Given the description of an element on the screen output the (x, y) to click on. 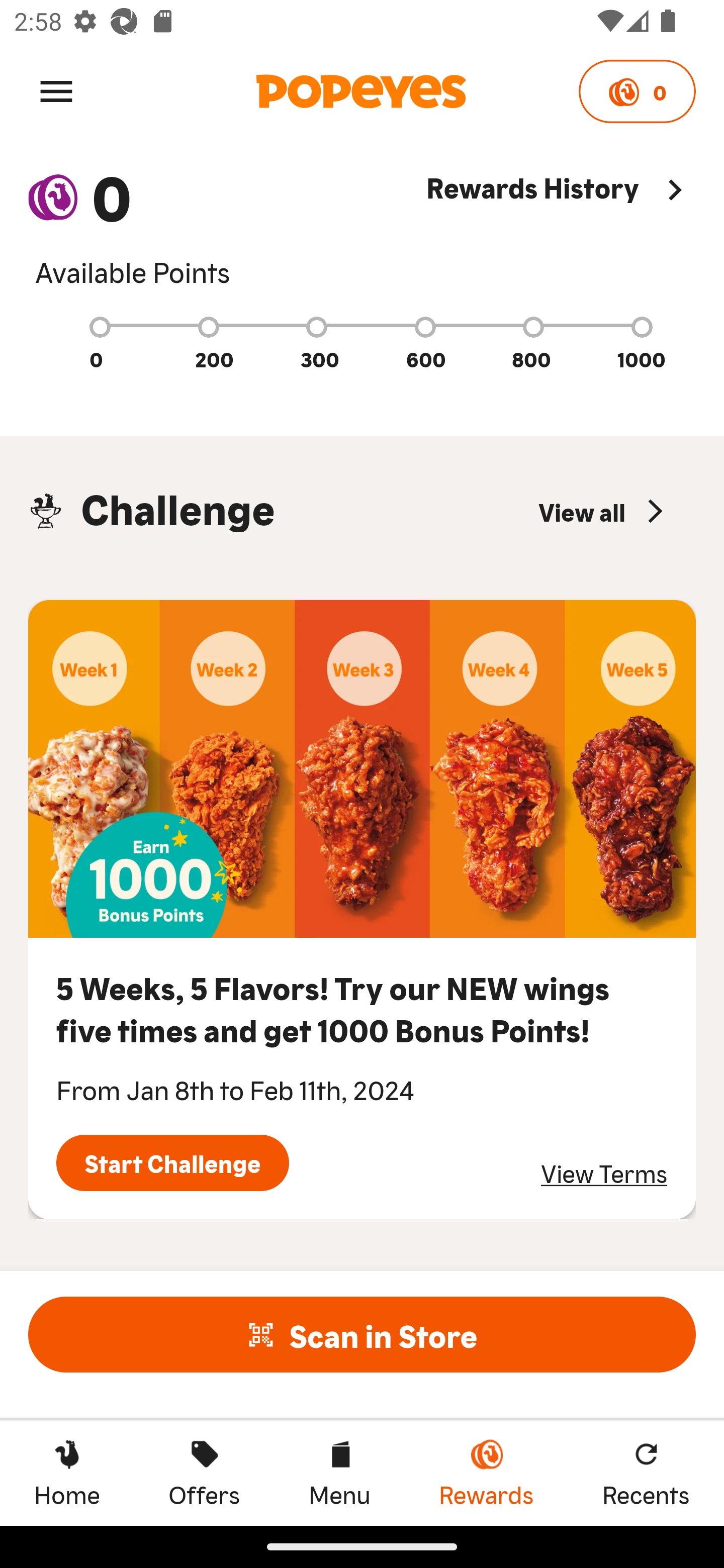
Menu  (56, 90)
0 Points 0 (636, 91)
Rewards History Rewards History  (560, 228)
View all (602, 511)
quest image (361, 768)
Start Challenge (172, 1163)
View Terms (603, 1172)
Scan in Store  Scan in Store (361, 1334)
Home Home Home (66, 1472)
Offers Offers Offers (203, 1472)
Menu Menu Menu (339, 1472)
Recents Recents Recents (646, 1472)
